Given the description of an element on the screen output the (x, y) to click on. 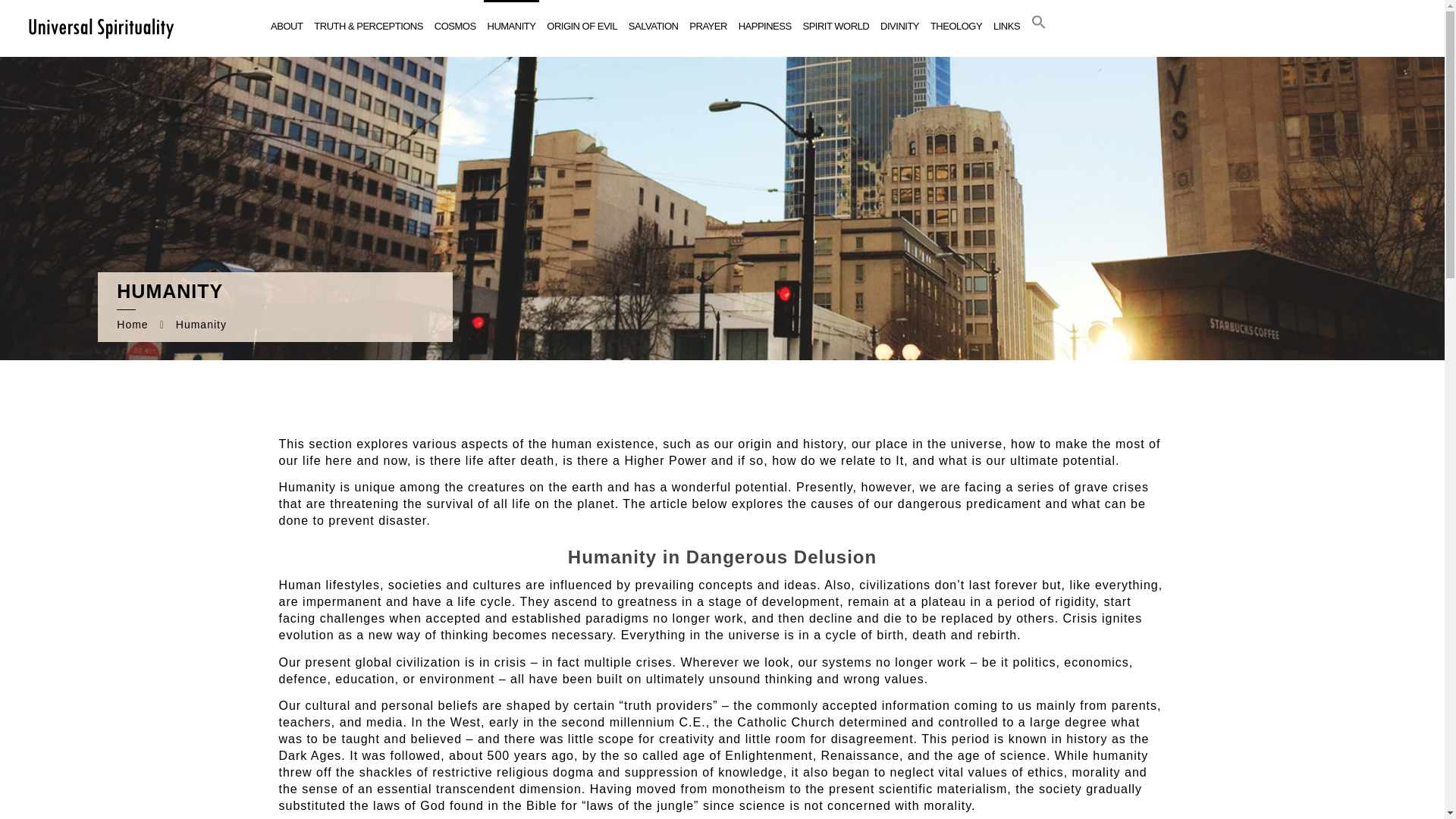
My Spiritual Journey (100, 26)
HUMANITY (511, 26)
COSMOS (455, 26)
